Given the description of an element on the screen output the (x, y) to click on. 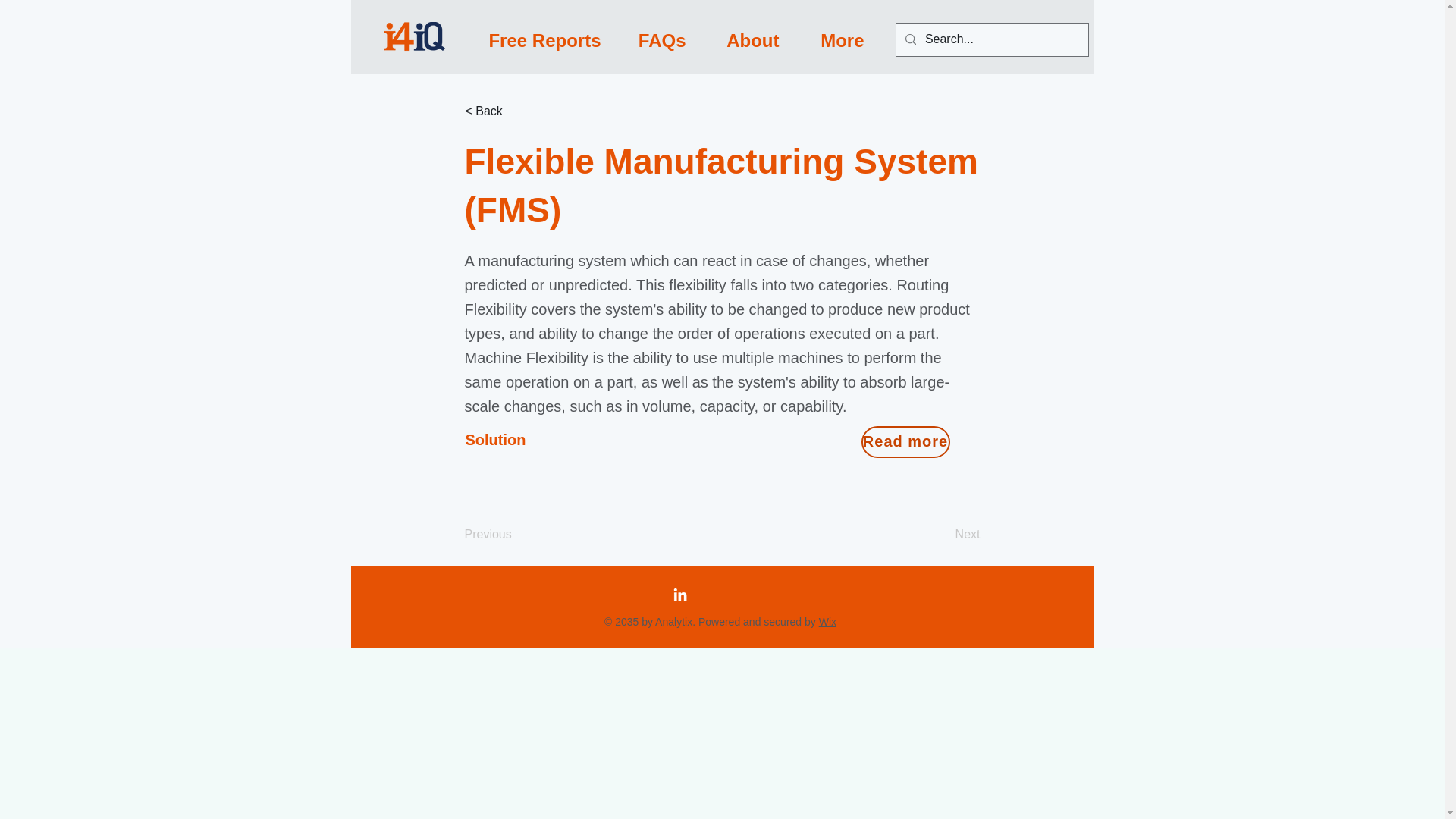
Free Reports (536, 39)
Next (941, 534)
Previous (514, 534)
About (743, 39)
FAQs (654, 39)
Wix (826, 621)
Read more (905, 441)
